Given the description of an element on the screen output the (x, y) to click on. 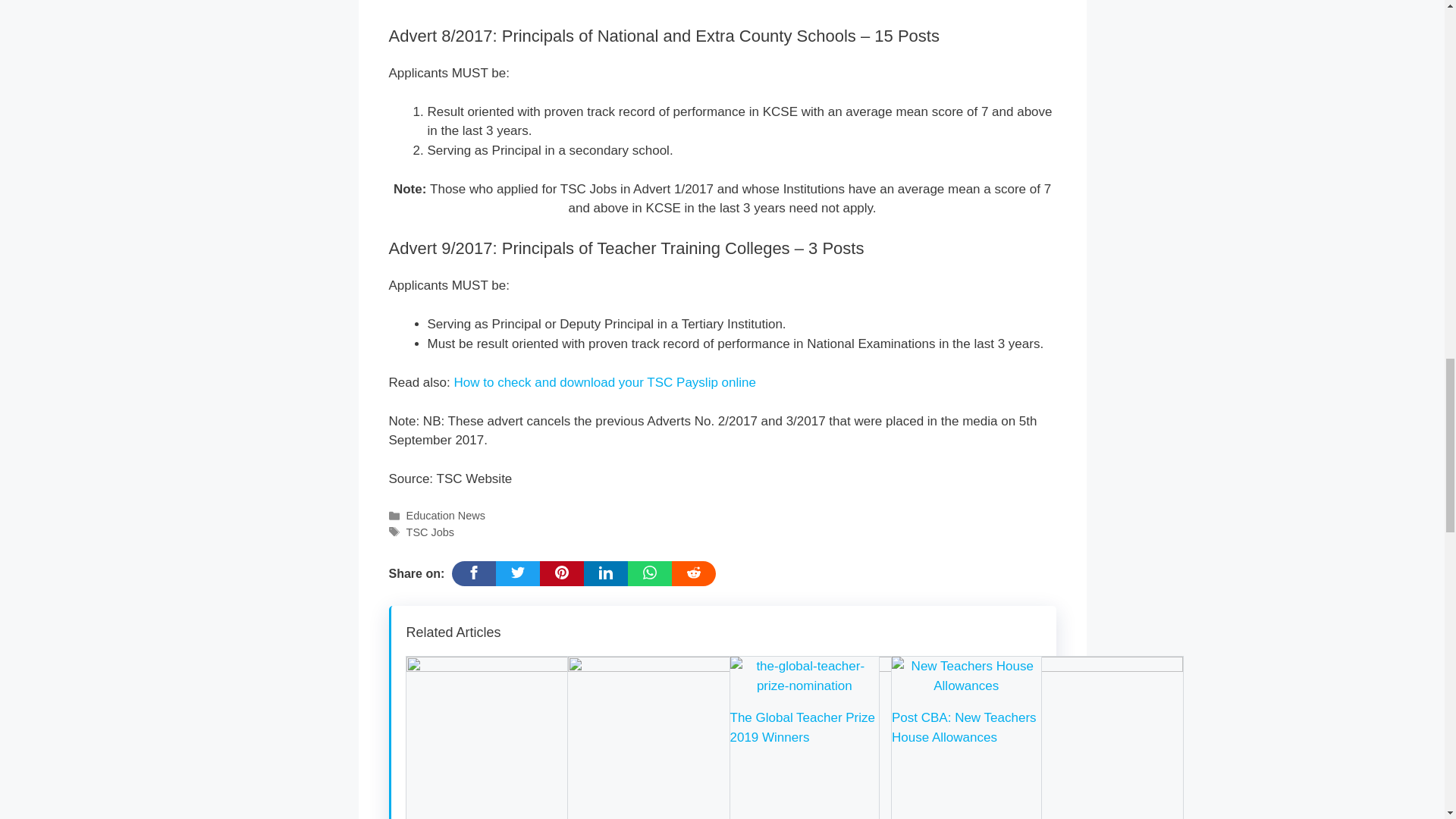
How to check and download your TSC Payslip online (603, 382)
Education News (445, 515)
TSC Jobs (430, 532)
Post CBA: New Teachers House Allowances (966, 685)
The Global Teacher Prize 2019 Winners (804, 685)
